Given the description of an element on the screen output the (x, y) to click on. 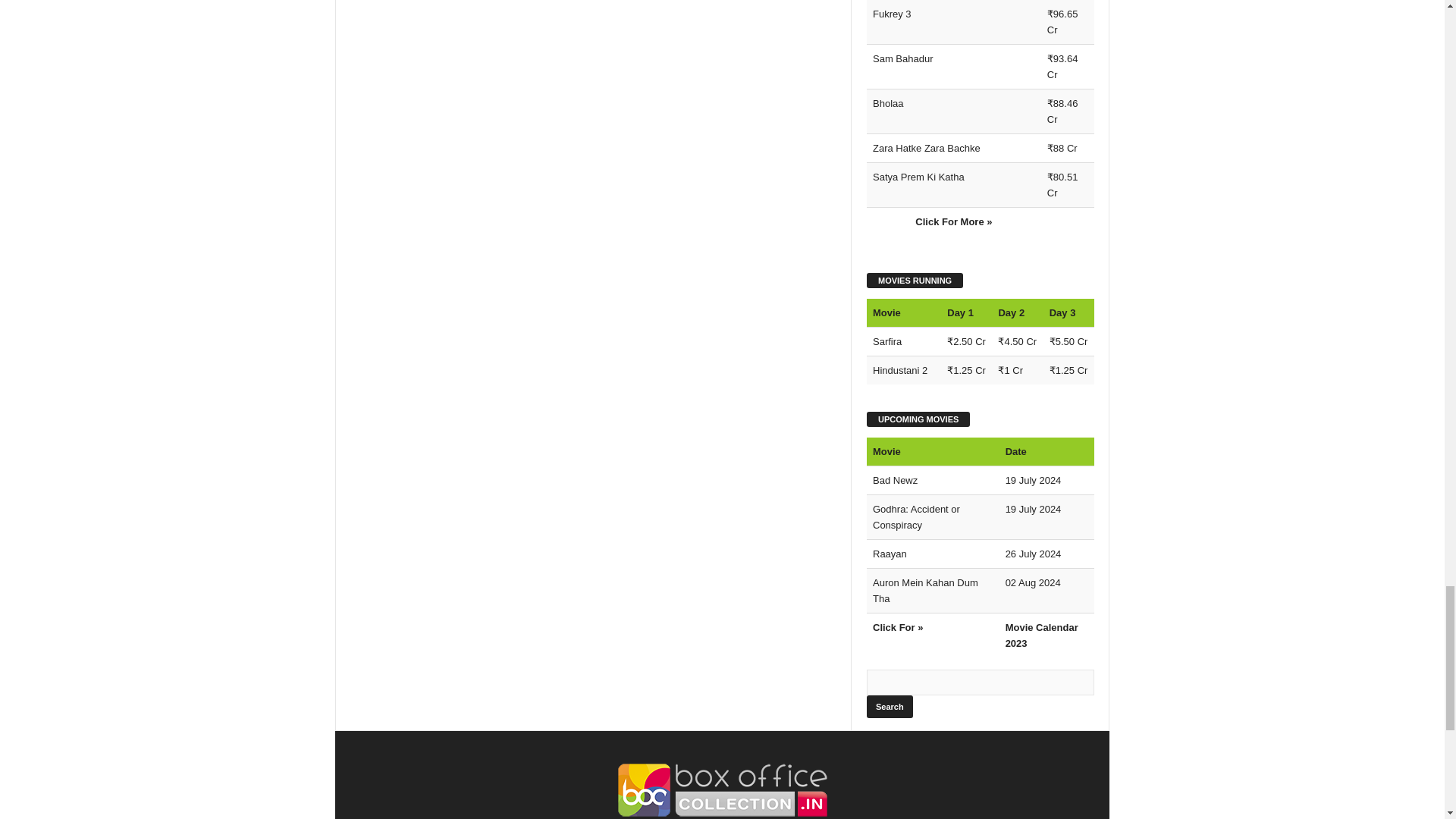
Search (889, 706)
